Given the description of an element on the screen output the (x, y) to click on. 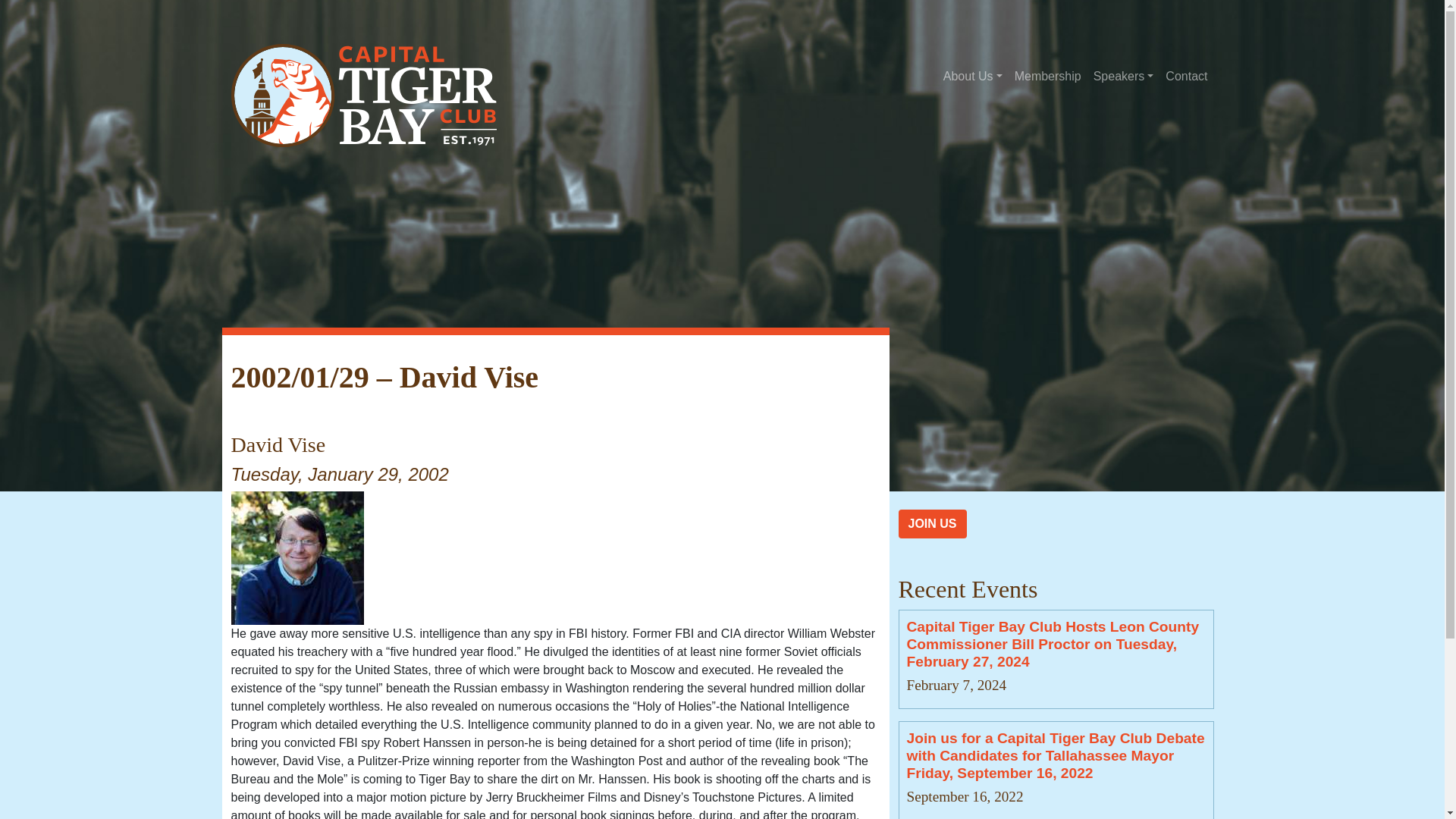
Contact (1185, 76)
Speakers (1123, 76)
Speakers (1123, 76)
About Us (973, 76)
Contact (1185, 76)
Membership (1048, 76)
JOIN US (932, 523)
About Us (973, 76)
